Given the description of an element on the screen output the (x, y) to click on. 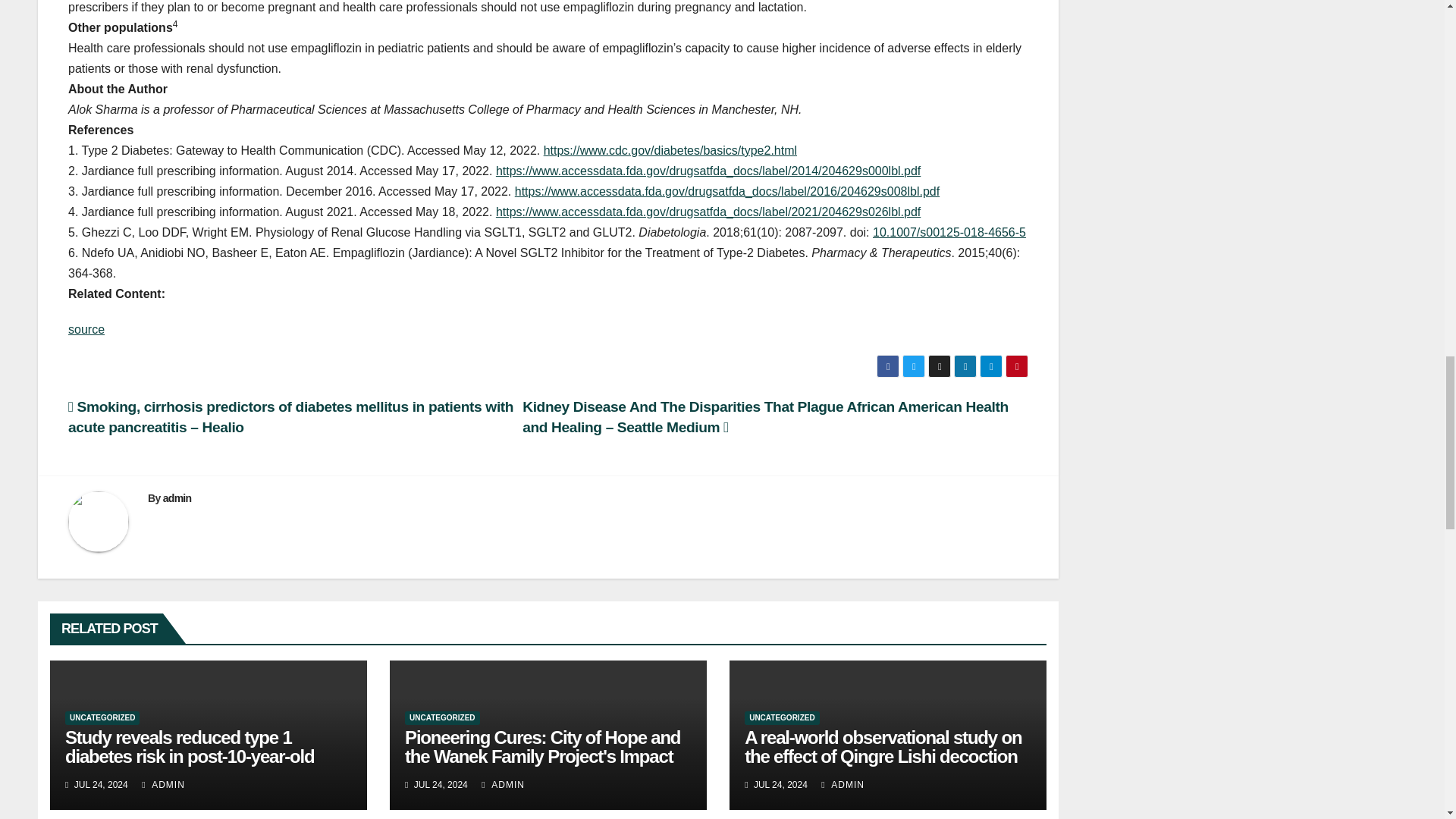
admin (177, 498)
ADMIN (162, 784)
UNCATEGORIZED (102, 717)
source (86, 328)
